Given the description of an element on the screen output the (x, y) to click on. 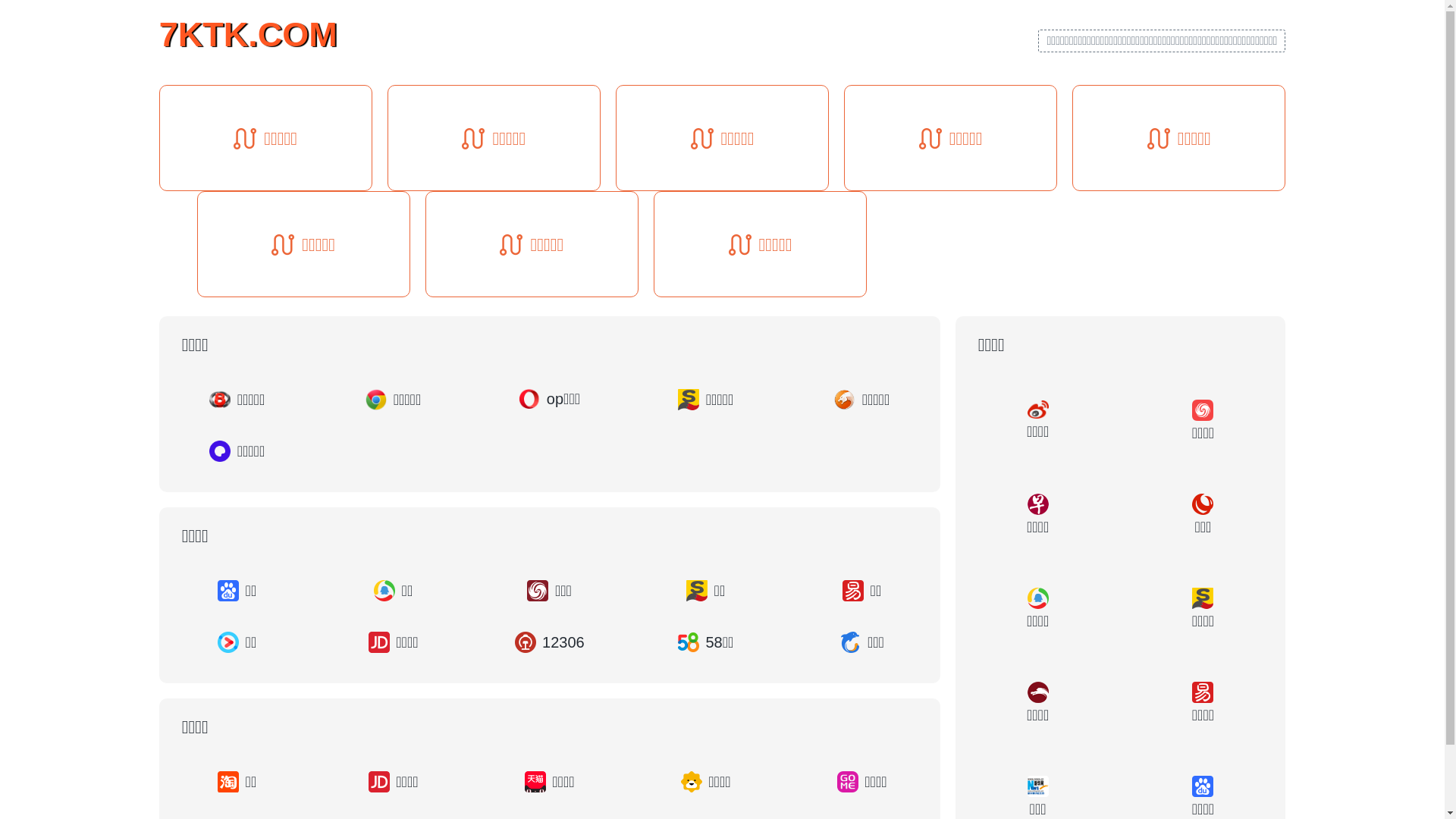
12306 Element type: text (549, 642)
7KTK.COM Element type: text (248, 32)
